Given the description of an element on the screen output the (x, y) to click on. 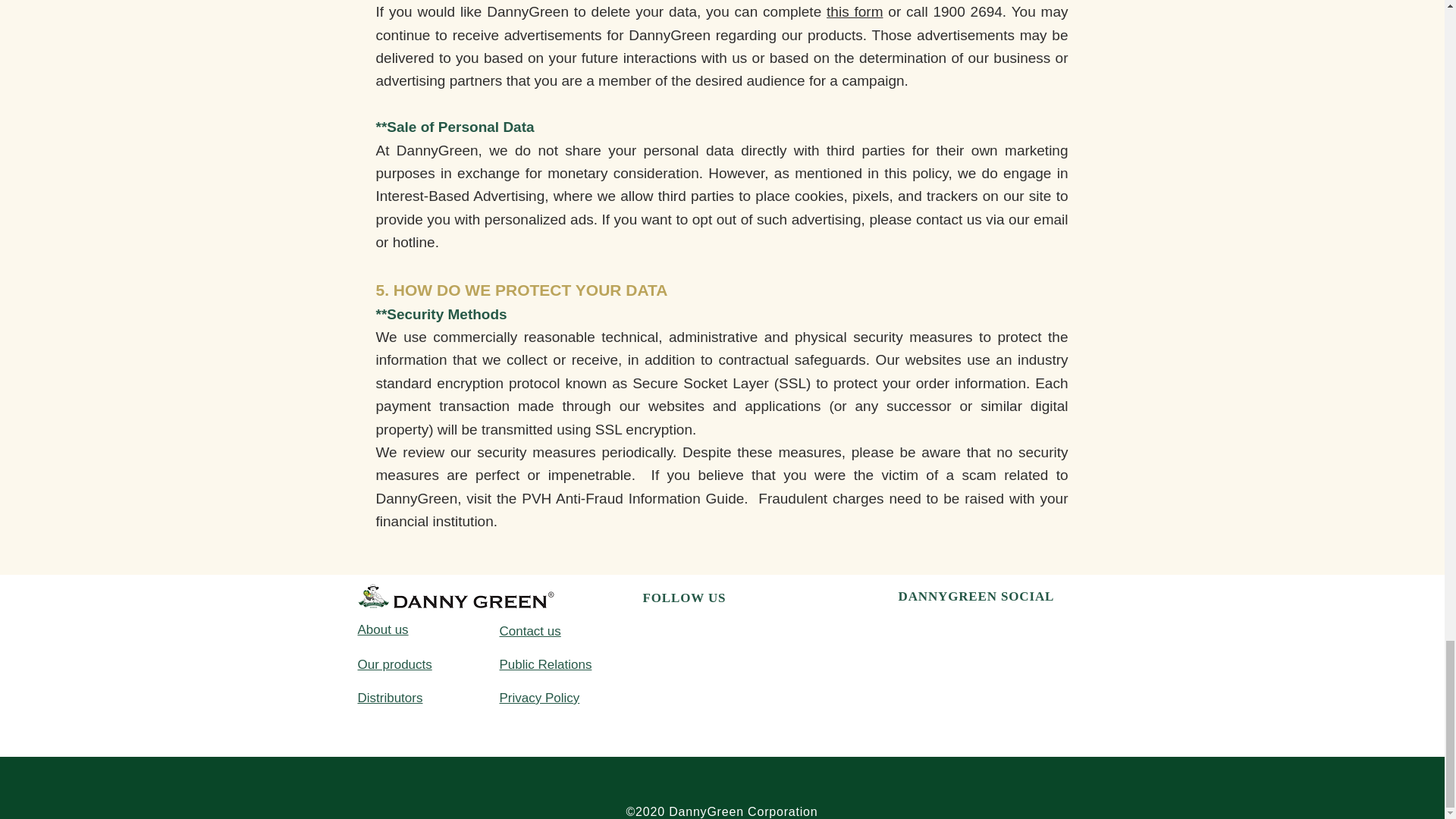
this form (854, 11)
Distributors (390, 698)
Contact us (529, 631)
Privacy Policy (539, 698)
Facebook Like (933, 630)
Our products (395, 664)
Public Relations (545, 664)
About us (383, 629)
